Given the description of an element on the screen output the (x, y) to click on. 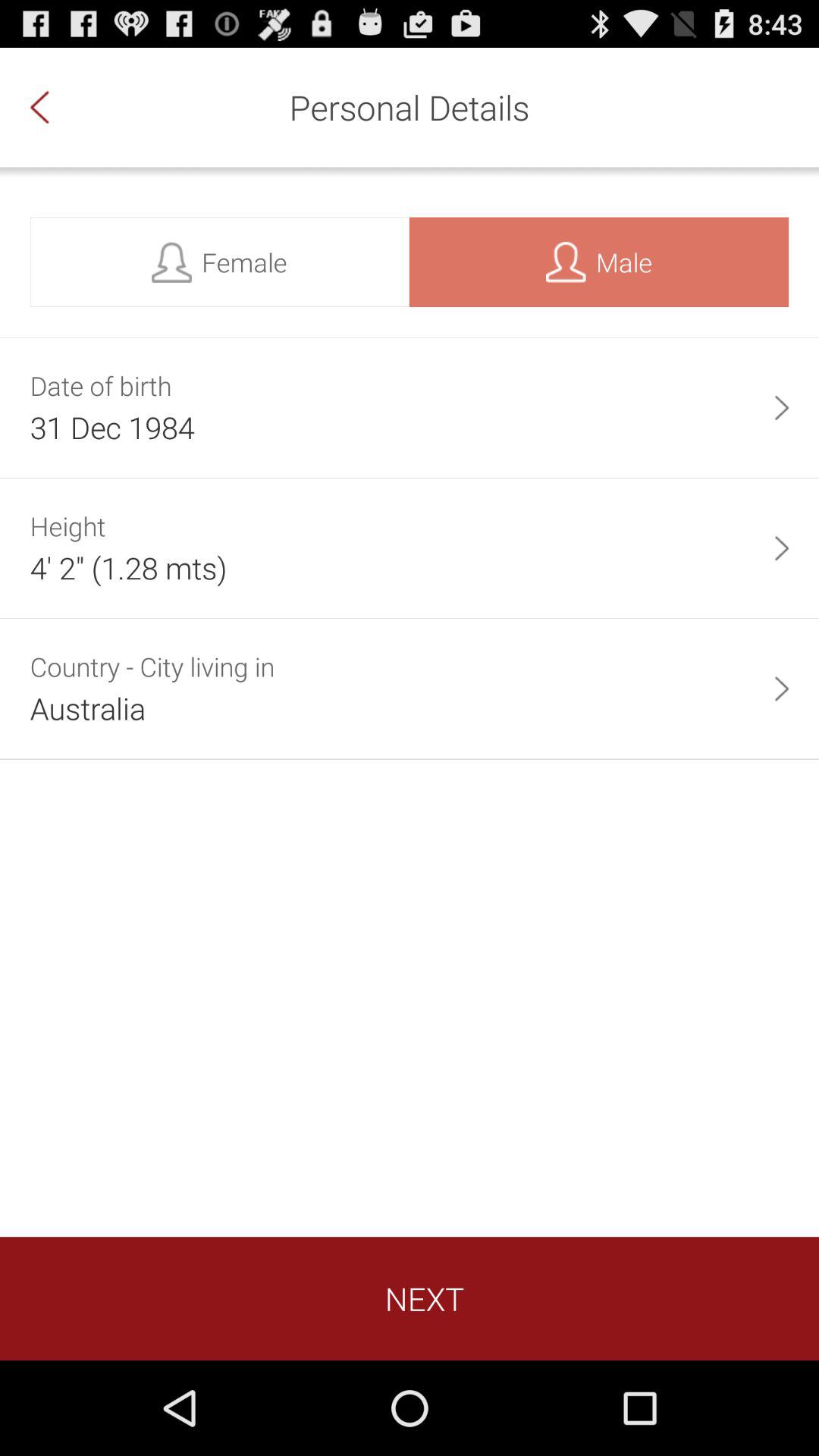
turn on the app to the right of the 31 dec 1984 item (781, 407)
